Given the description of an element on the screen output the (x, y) to click on. 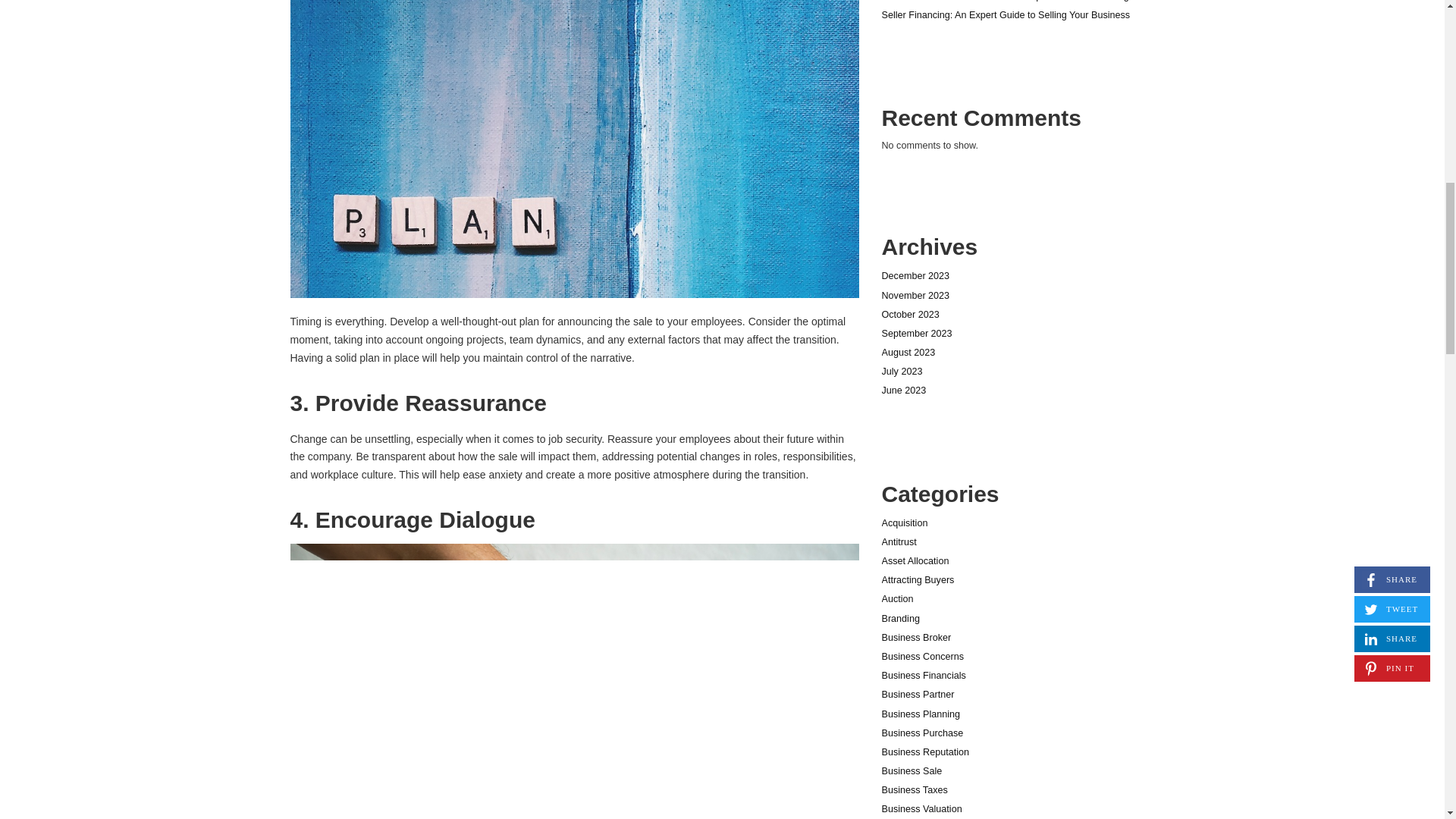
October 2023 (909, 314)
November 2023 (914, 295)
Seller Financing: An Expert Guide to Selling Your Business (1004, 14)
December 2023 (914, 276)
